Given the description of an element on the screen output the (x, y) to click on. 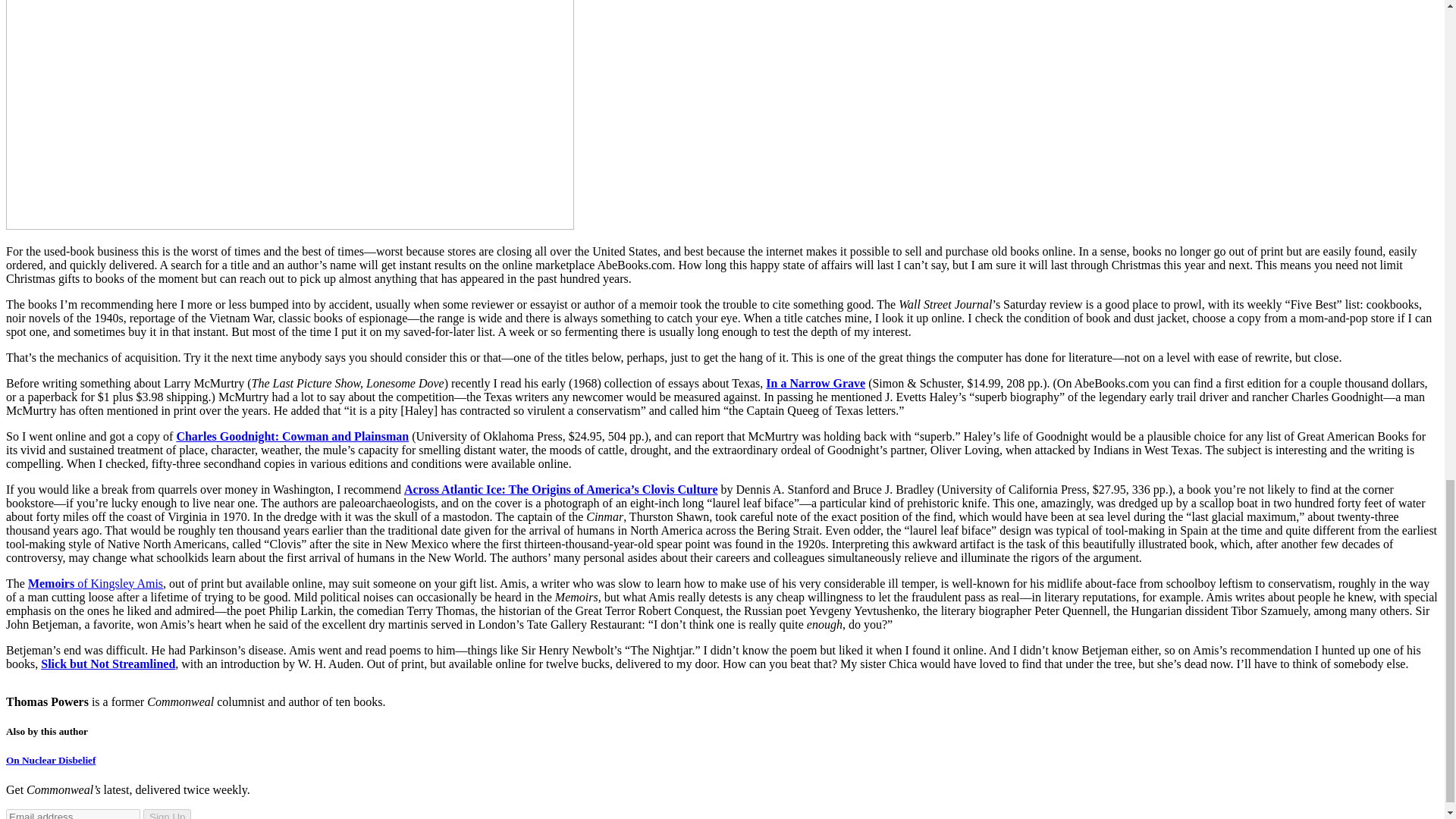
Memoirs of Kingsley Amis (95, 583)
In a Narrow Grave (814, 382)
Charles Goodnight: Cowman and Plainsman (292, 436)
Slick but Not Streamlined (107, 663)
